Given the description of an element on the screen output the (x, y) to click on. 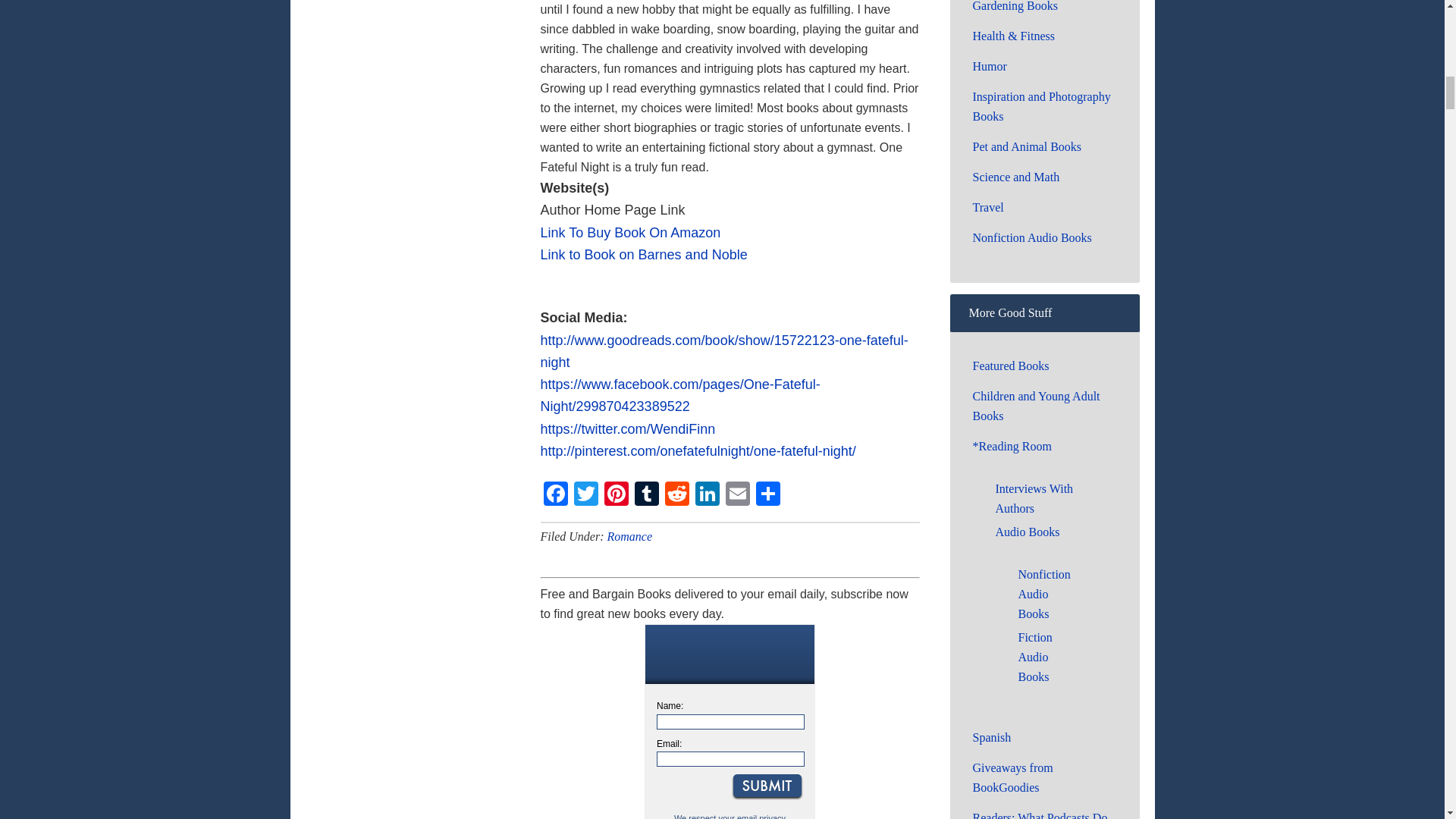
Privacy Policy (761, 816)
LinkedIn (706, 495)
Link to Book on Barnes and Noble (643, 254)
Email (737, 495)
Link To Buy Book On Amazon (630, 231)
Twitter (584, 495)
Reddit (676, 495)
Facebook (555, 495)
Tumblr (645, 495)
Pinterest (614, 495)
